Given the description of an element on the screen output the (x, y) to click on. 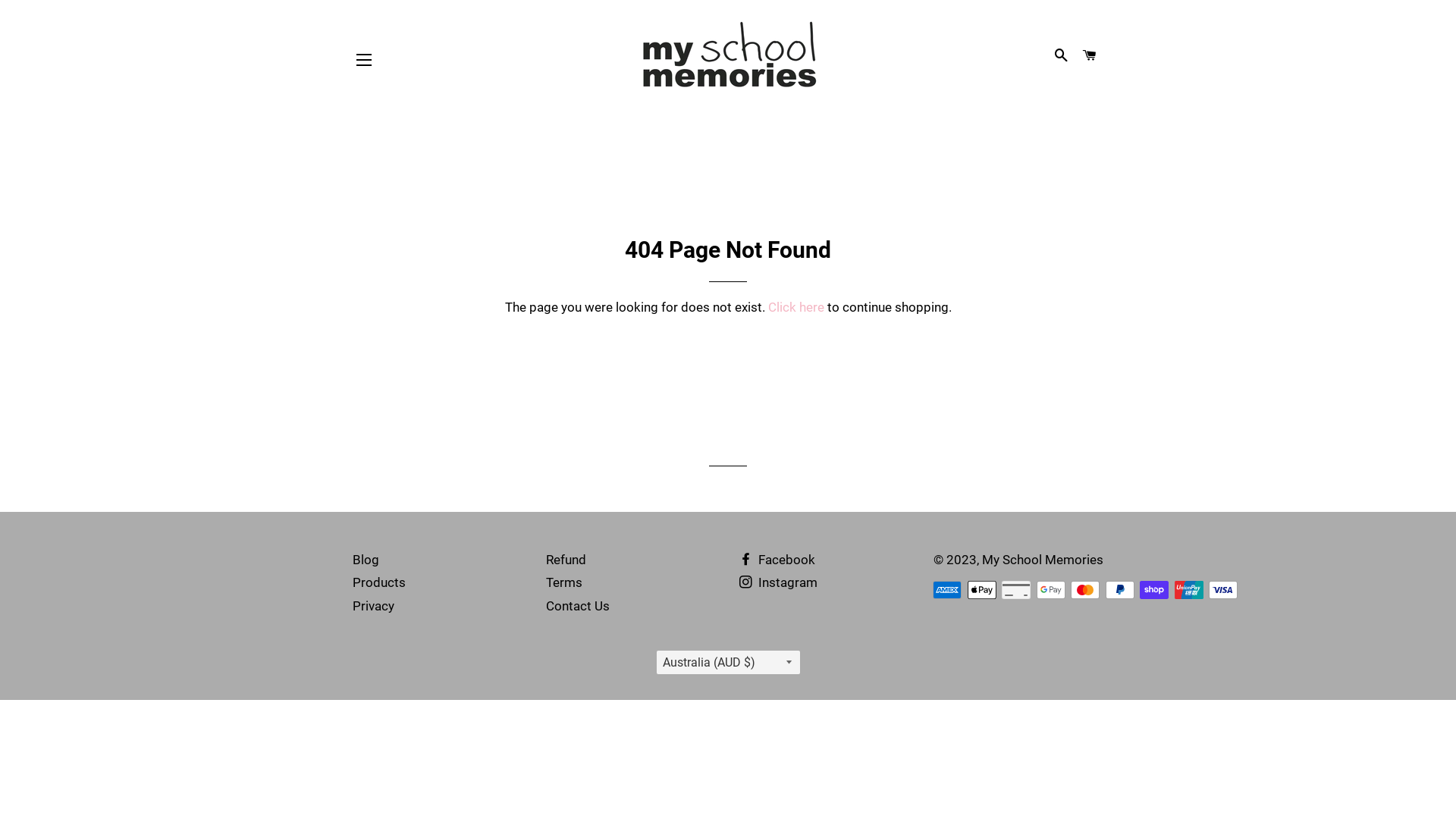
Refund Element type: text (566, 559)
Privacy Element type: text (373, 605)
Terms Element type: text (564, 581)
Click here Element type: text (795, 306)
Instagram Element type: text (778, 581)
Products Element type: text (378, 581)
CART Element type: text (1090, 56)
Blog Element type: text (365, 559)
Facebook Element type: text (777, 559)
SITE NAVIGATION Element type: text (363, 59)
SEARCH Element type: text (1060, 56)
Contact Us Element type: text (577, 605)
My School Memories Element type: text (1042, 559)
